Given the description of an element on the screen output the (x, y) to click on. 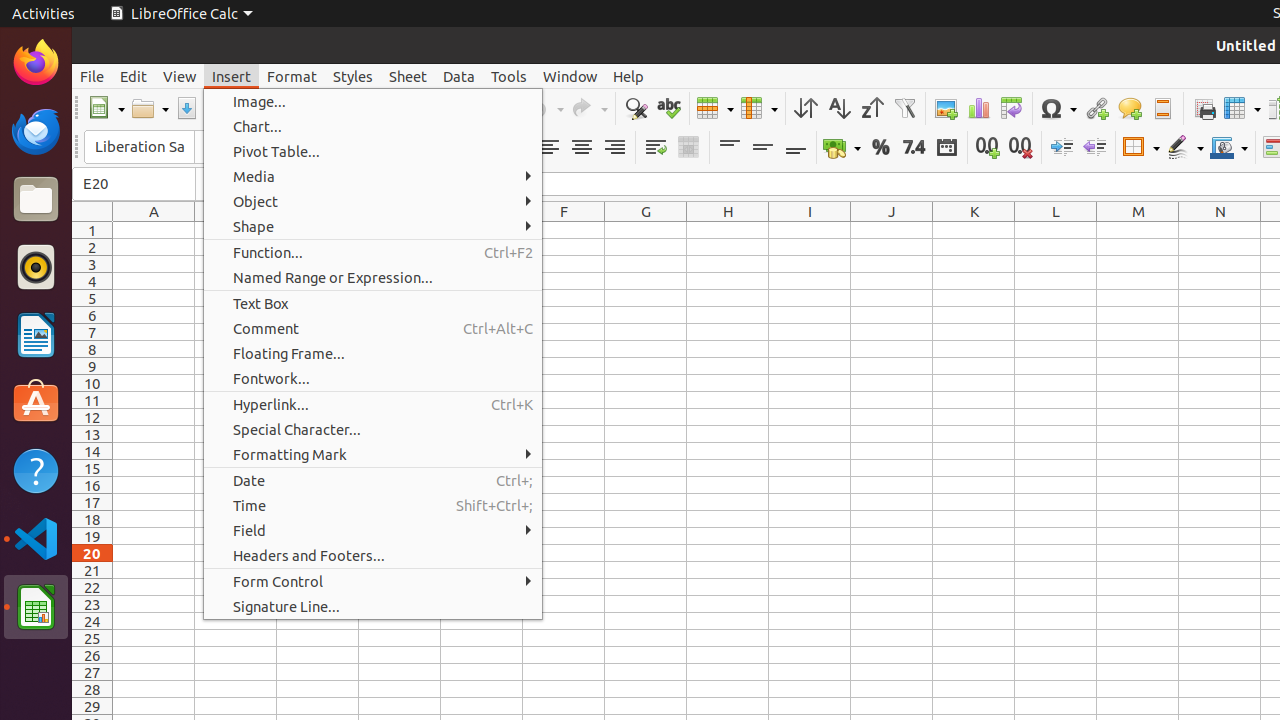
Form Control Element type: menu (373, 581)
Border Color Element type: push-button (1229, 147)
File Element type: menu (92, 76)
Styles Element type: menu (353, 76)
Thunderbird Mail Element type: push-button (36, 131)
